Given the description of an element on the screen output the (x, y) to click on. 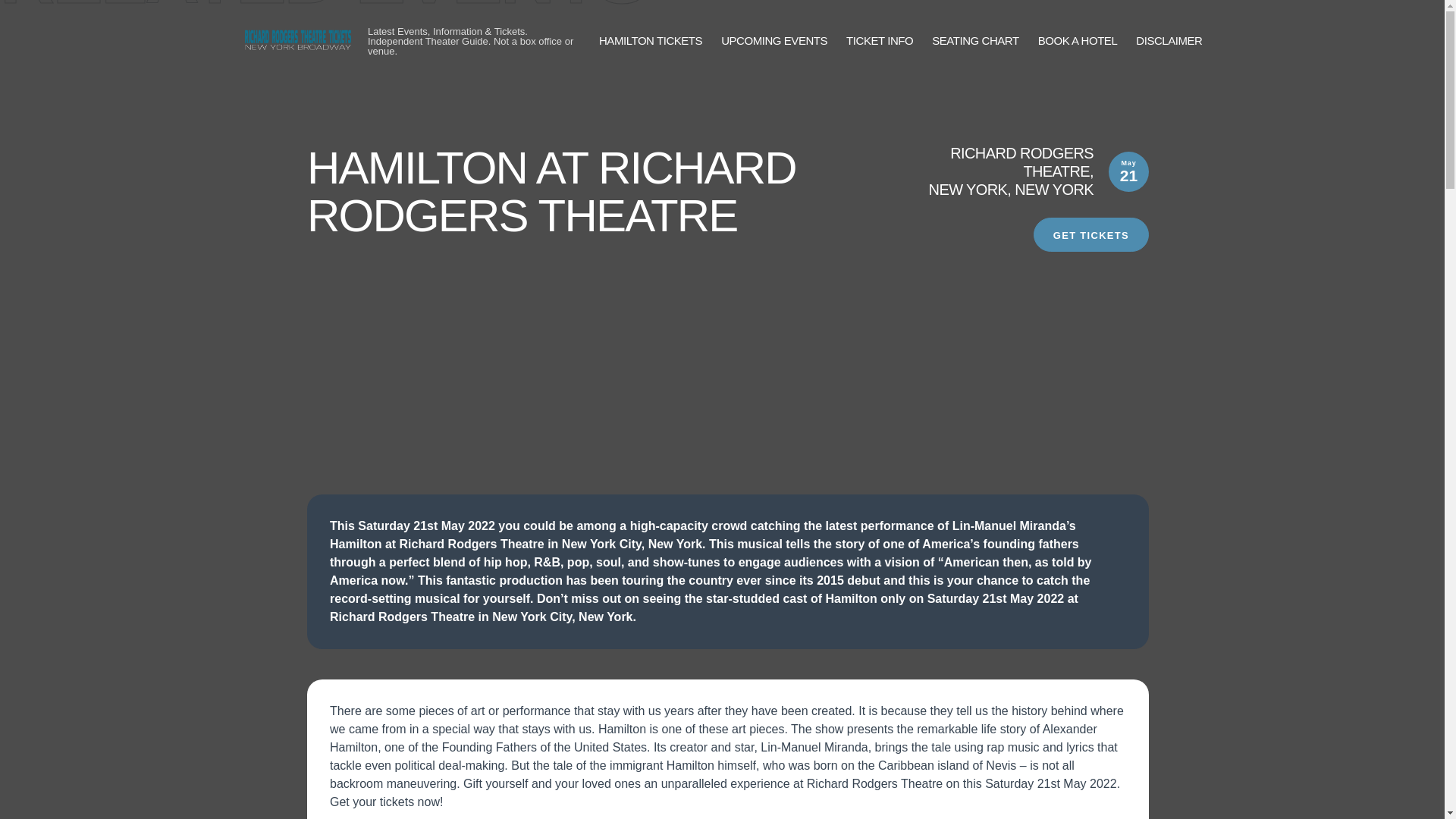
SEATING CHART (974, 40)
GET TICKETS (1090, 234)
UPCOMING EVENTS (773, 40)
TICKET INFO (878, 40)
DISCLAIMER (1168, 40)
BOOK A HOTEL (1078, 40)
HAMILTON TICKETS (649, 40)
